Given the description of an element on the screen output the (x, y) to click on. 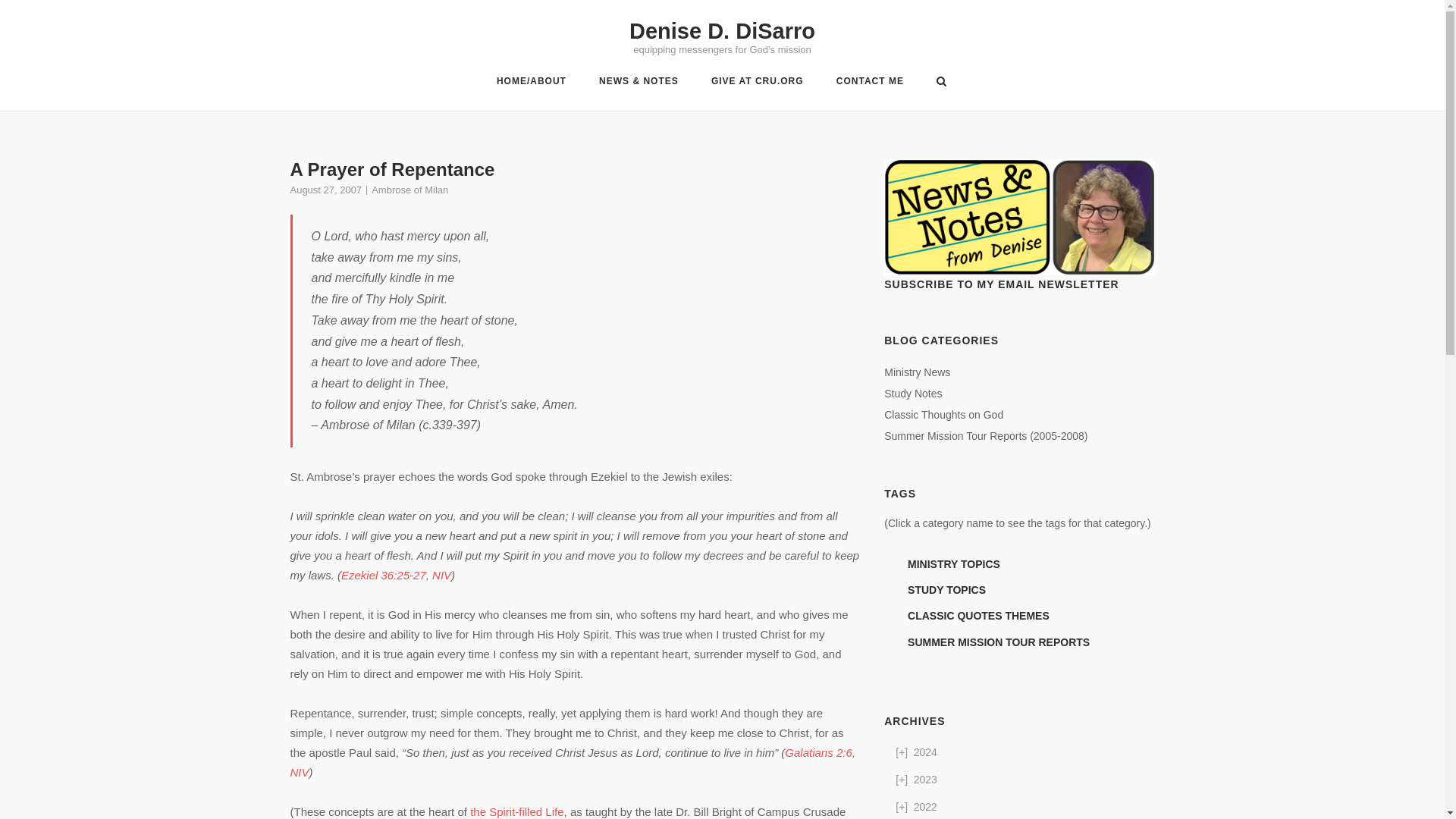
Ministry News (916, 372)
Ambrose of Milan (409, 189)
Subscribe to my Email Newsletter (1018, 216)
GIVE AT CRU.ORG (757, 83)
Classic Thoughts on God (943, 414)
Denise D. DiSarro (721, 30)
Study Notes (912, 393)
CONTACT ME (869, 83)
Ezekiel 36:25-27, NIV (395, 574)
the Spirit-filled Life (516, 811)
Galatians 2:6, NIV (571, 762)
